Given the description of an element on the screen output the (x, y) to click on. 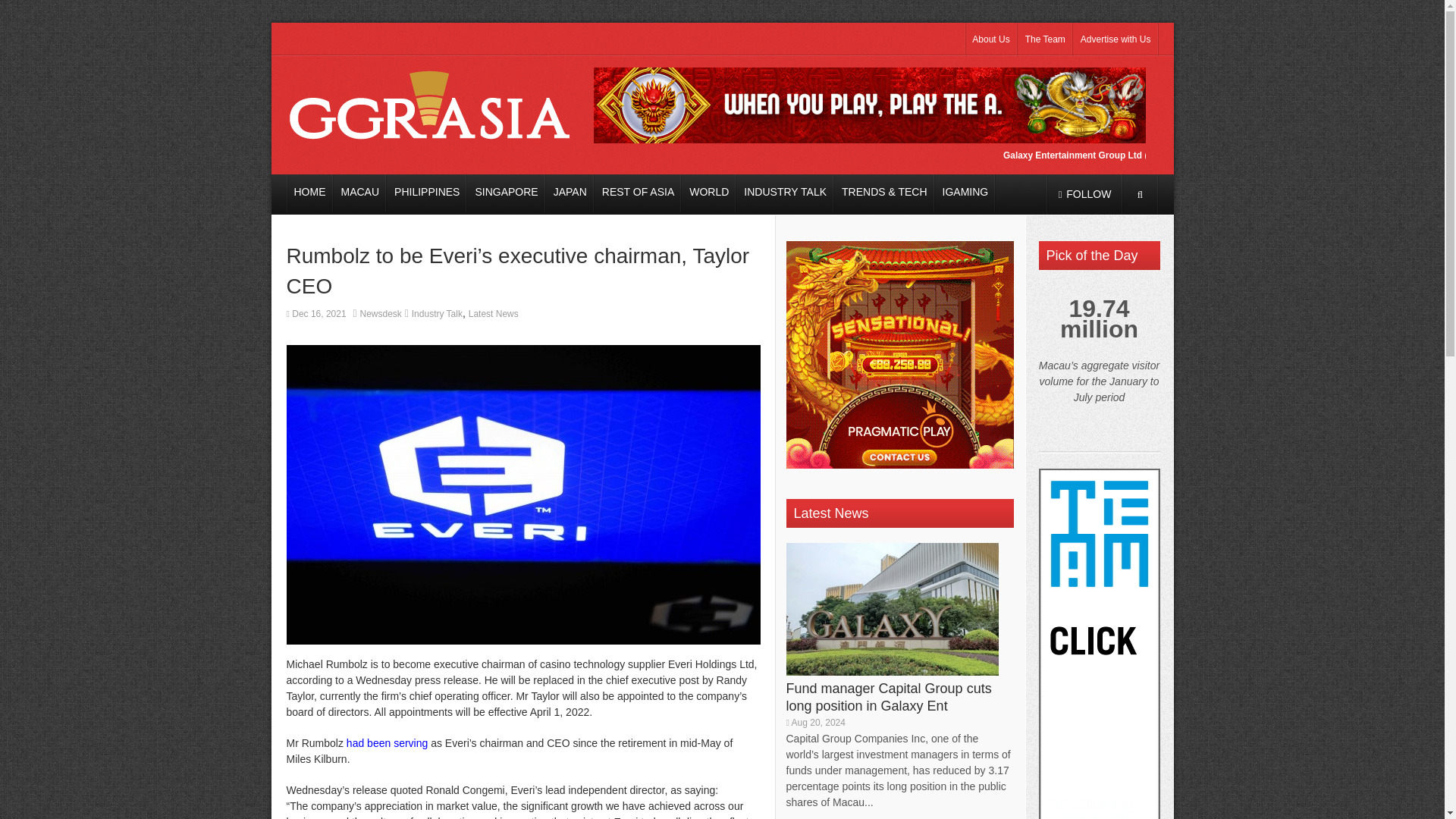
had been serving (387, 743)
Newsdesk (380, 313)
Advertise with Us (1115, 39)
Fund manager Capital Group cuts long position in Galaxy Ent (888, 696)
PHILIPPINES (427, 193)
About Us (989, 39)
INDUSTRY TALK (785, 193)
REST OF ASIA (637, 193)
Latest News (493, 313)
Latest News (830, 513)
